Given the description of an element on the screen output the (x, y) to click on. 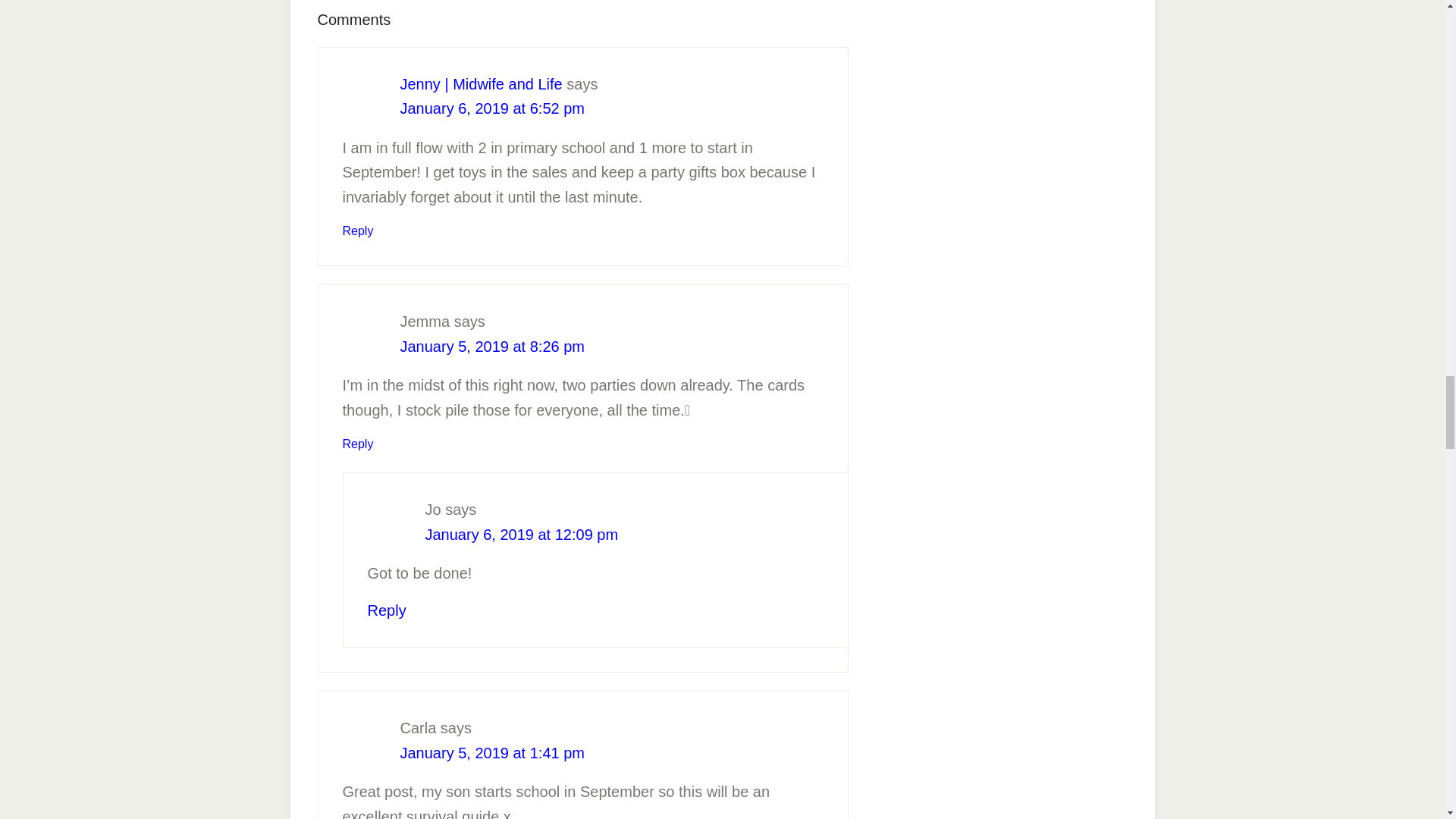
January 5, 2019 at 1:41 pm (492, 752)
January 5, 2019 at 8:26 pm (492, 346)
Reply (358, 443)
January 6, 2019 at 12:09 pm (521, 534)
January 6, 2019 at 6:52 pm (492, 108)
Reply (386, 610)
Reply (358, 230)
